Given the description of an element on the screen output the (x, y) to click on. 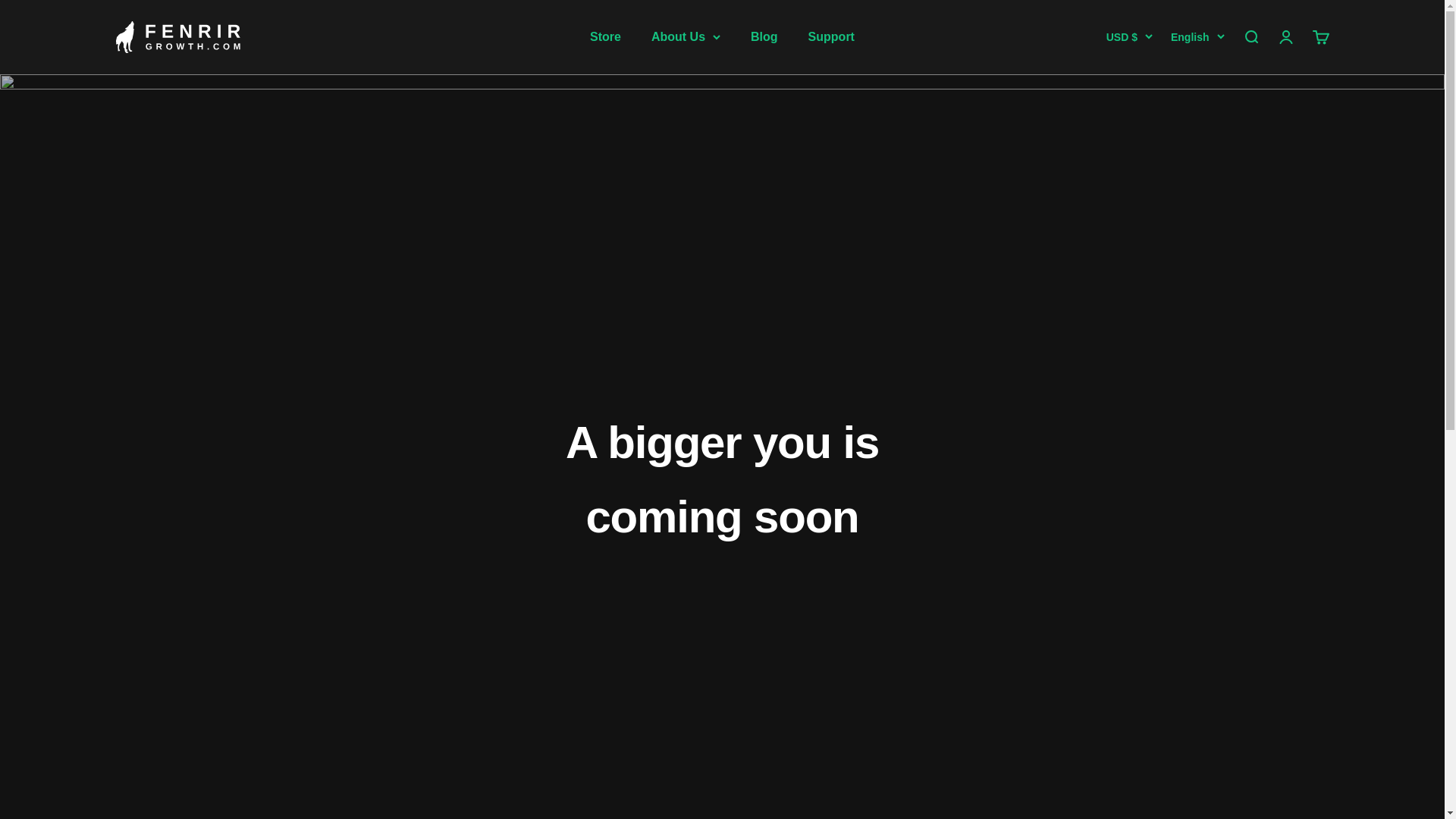
Fenrir (177, 37)
Store (605, 36)
Support (831, 36)
Blog (764, 36)
